Given the description of an element on the screen output the (x, y) to click on. 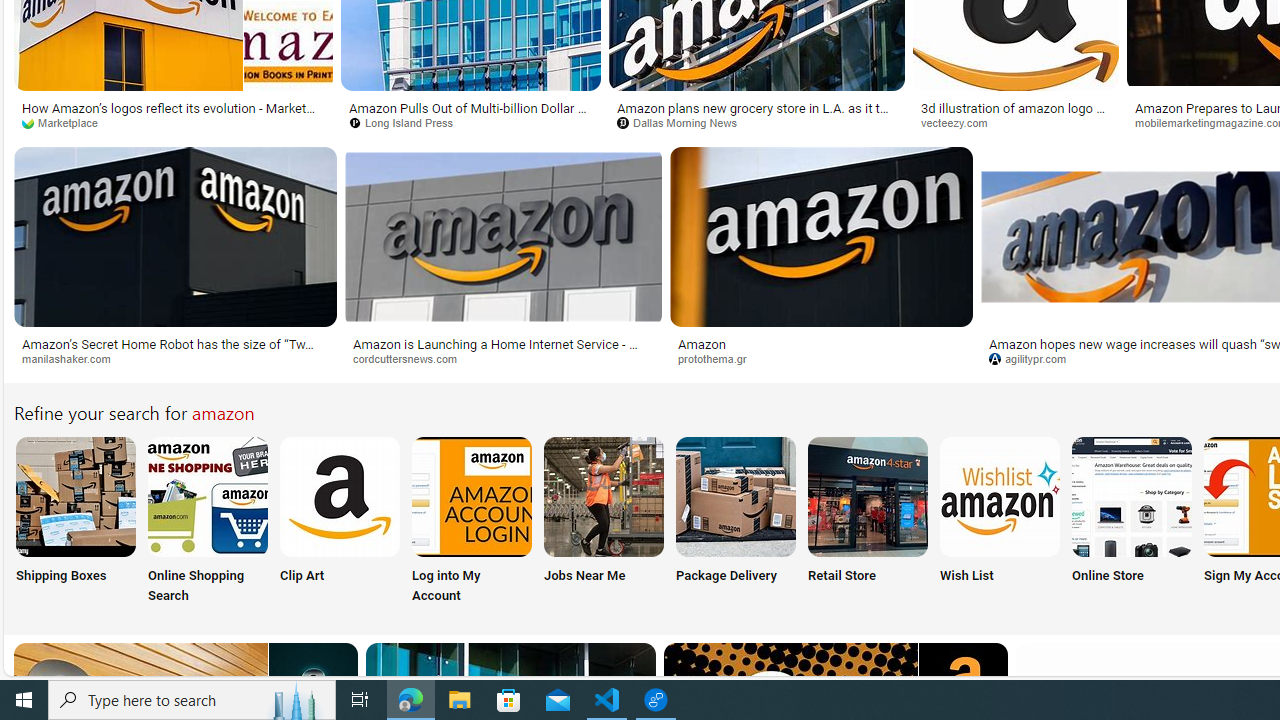
Online Store (1131, 521)
Amazon Online Shopping Search (207, 496)
Dallas Morning News (683, 121)
Retail Store (867, 521)
protothema.gr (719, 358)
manilashaker.com (174, 359)
Amazon Package Delivery Package Delivery (735, 521)
Long Island Press (408, 121)
cordcuttersnews.com (412, 358)
cordcuttersnews.com (503, 359)
Amazon Retail Store (867, 496)
